Given the description of an element on the screen output the (x, y) to click on. 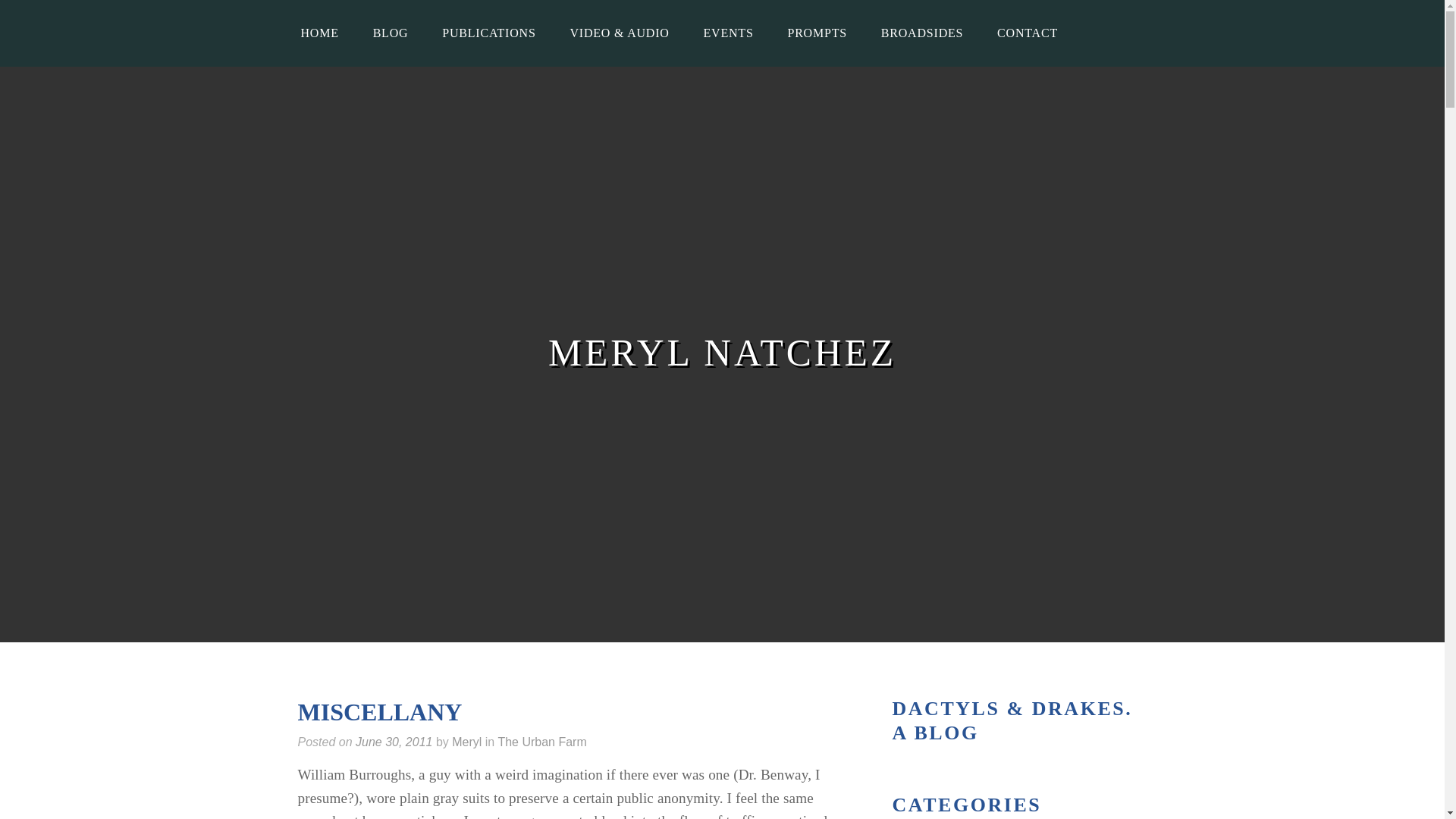
PUBLICATIONS (488, 33)
BLOG (390, 33)
CONTACT (1027, 33)
PROMPTS (816, 33)
The Urban Farm (541, 742)
Meryl (466, 742)
June 30, 2011 (393, 742)
BROADSIDES (922, 33)
HOME (319, 33)
EVENTS (728, 33)
MERYL NATCHEZ (722, 352)
